Given the description of an element on the screen output the (x, y) to click on. 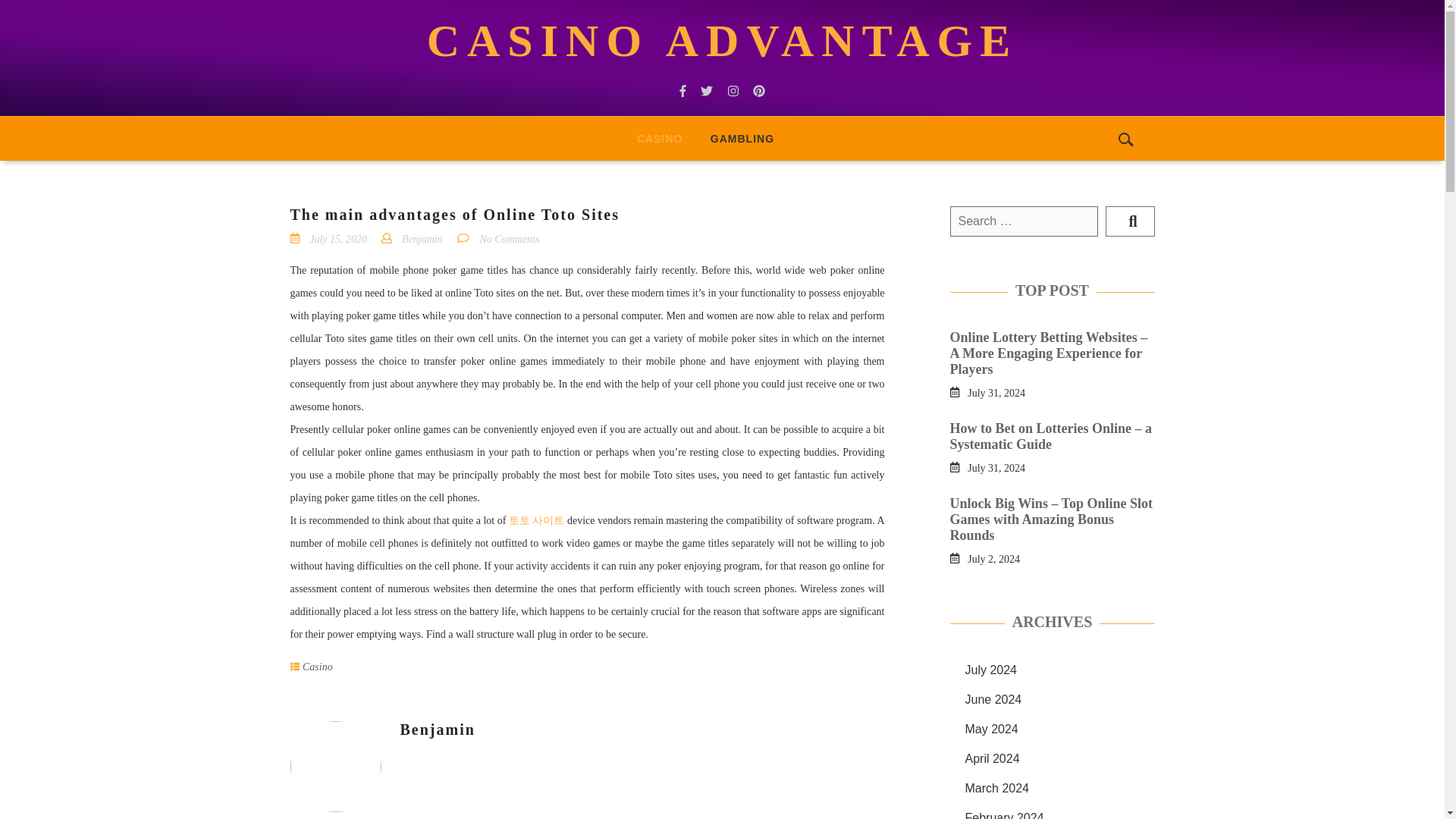
Posts by Benjamin (438, 729)
Search (1129, 221)
March 2024 (996, 788)
February 2024 (1003, 815)
July 2, 2024 (994, 558)
July 31, 2024 (996, 391)
May 2024 (990, 728)
GAMBLING (742, 138)
Casino (659, 138)
July 15, 2020 (337, 238)
